Given the description of an element on the screen output the (x, y) to click on. 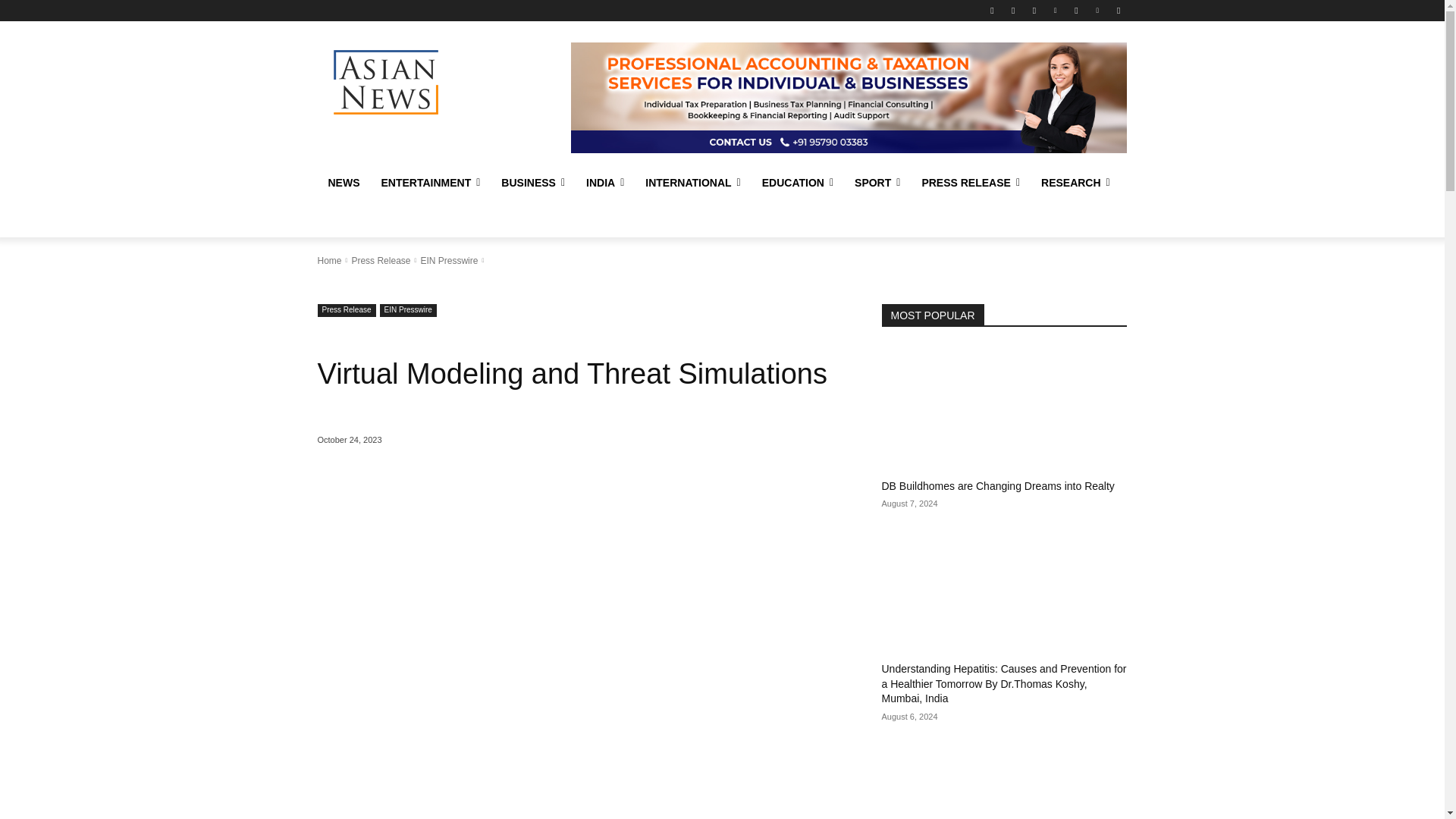
ENTERTAINMENT (429, 182)
LinkedIn (1055, 9)
NEWS (343, 182)
Blogger (1097, 9)
Tumblr (1075, 9)
Facebook (992, 9)
Twitter (1013, 9)
Instagram (1034, 9)
